Given the description of an element on the screen output the (x, y) to click on. 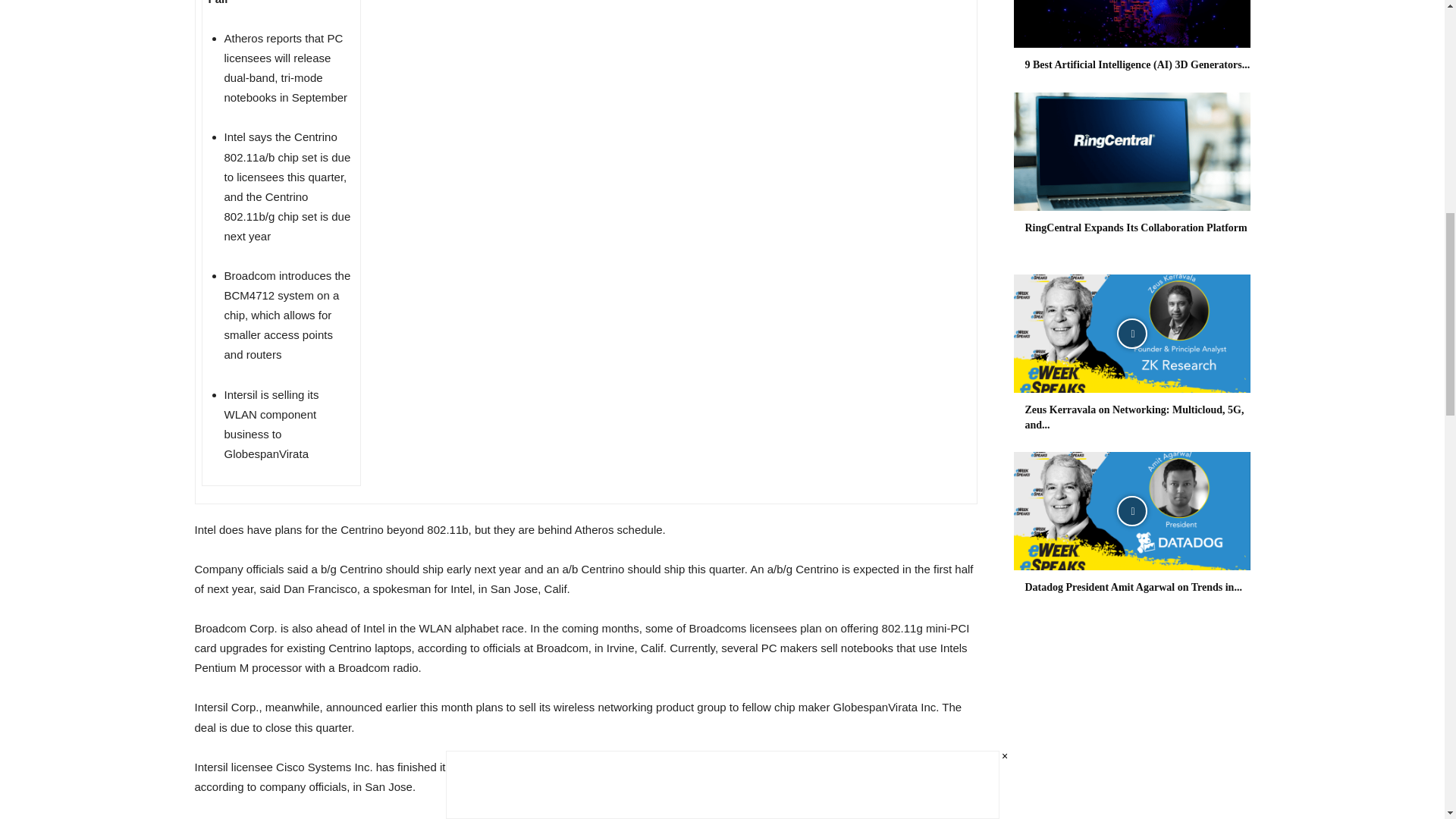
Zeus Kerravala on Networking: Multicloud, 5G, and Automation (1131, 333)
Zeus Kerravala on Networking: Multicloud, 5G, and Automation (1134, 417)
RingCentral Expands Its Collaboration Platform (1136, 227)
RingCentral Expands Its Collaboration Platform (1131, 151)
